Given the description of an element on the screen output the (x, y) to click on. 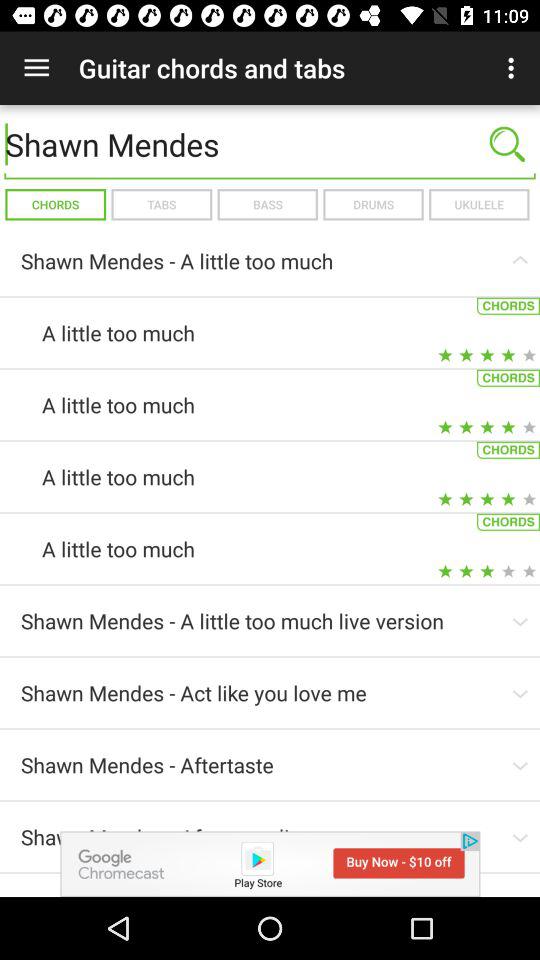
scroll to the ukulele item (478, 204)
